Given the description of an element on the screen output the (x, y) to click on. 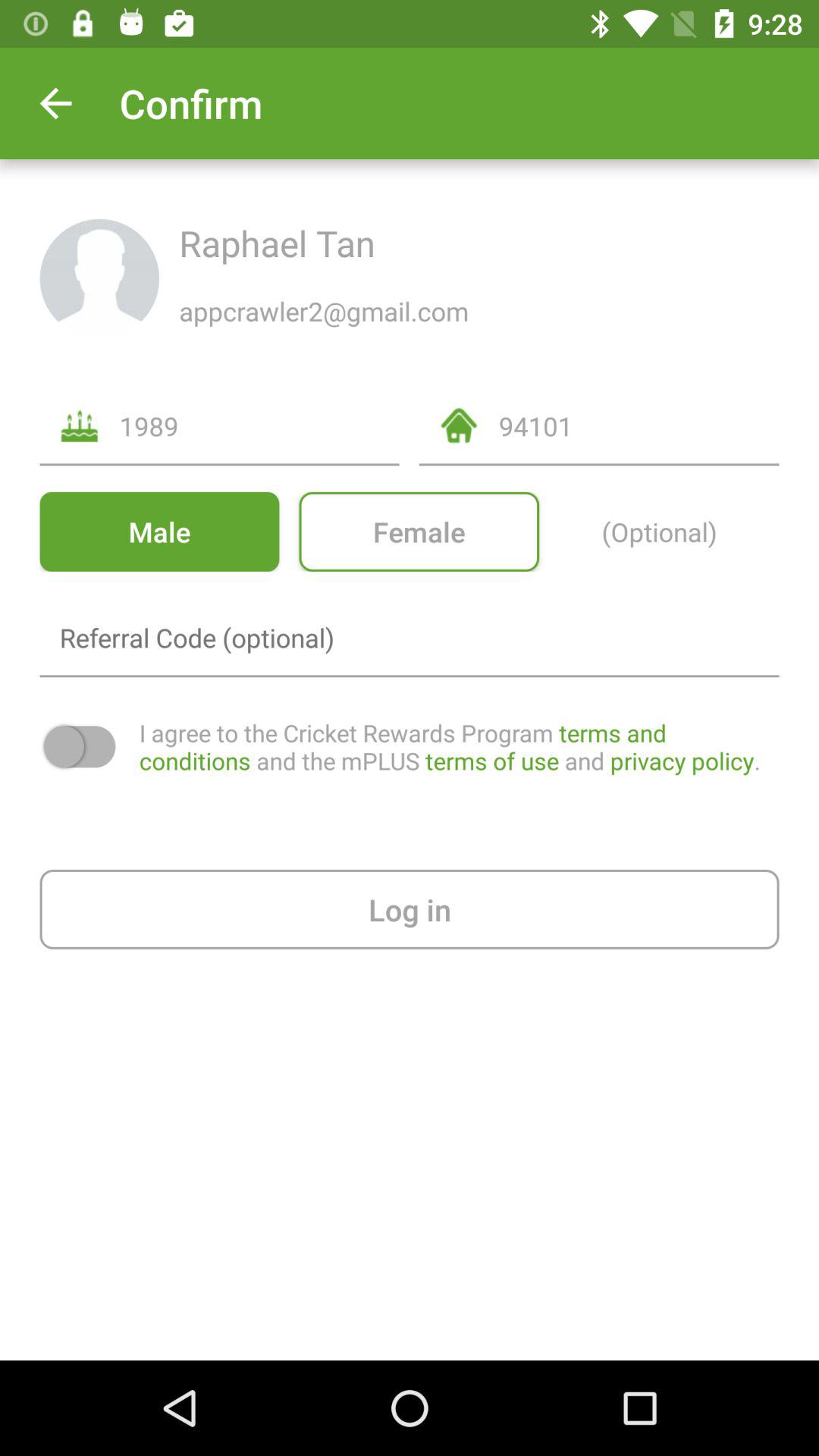
select the app next to the confirm icon (55, 103)
